Given the description of an element on the screen output the (x, y) to click on. 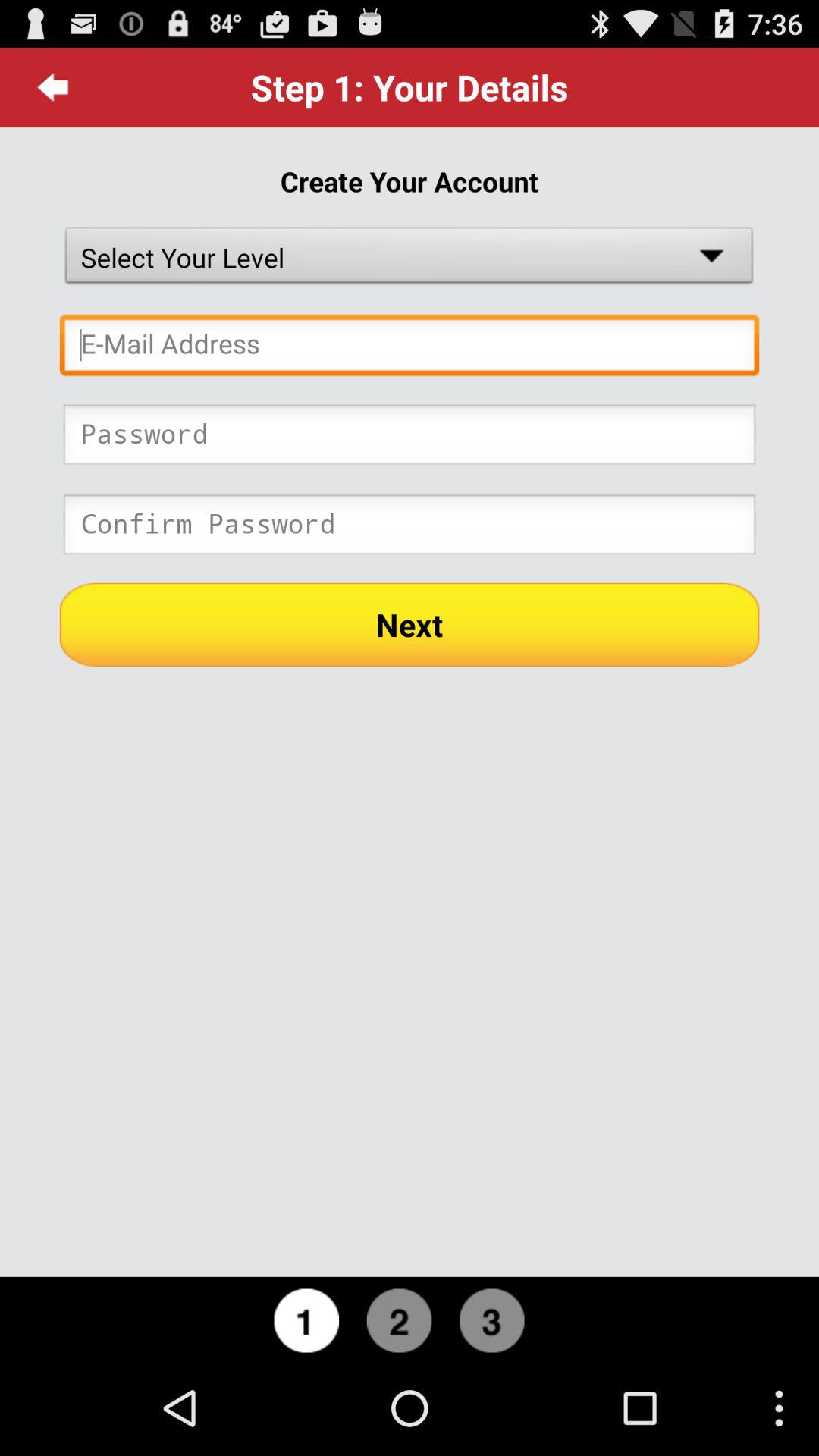
open icon at the top left corner (53, 87)
